Given the description of an element on the screen output the (x, y) to click on. 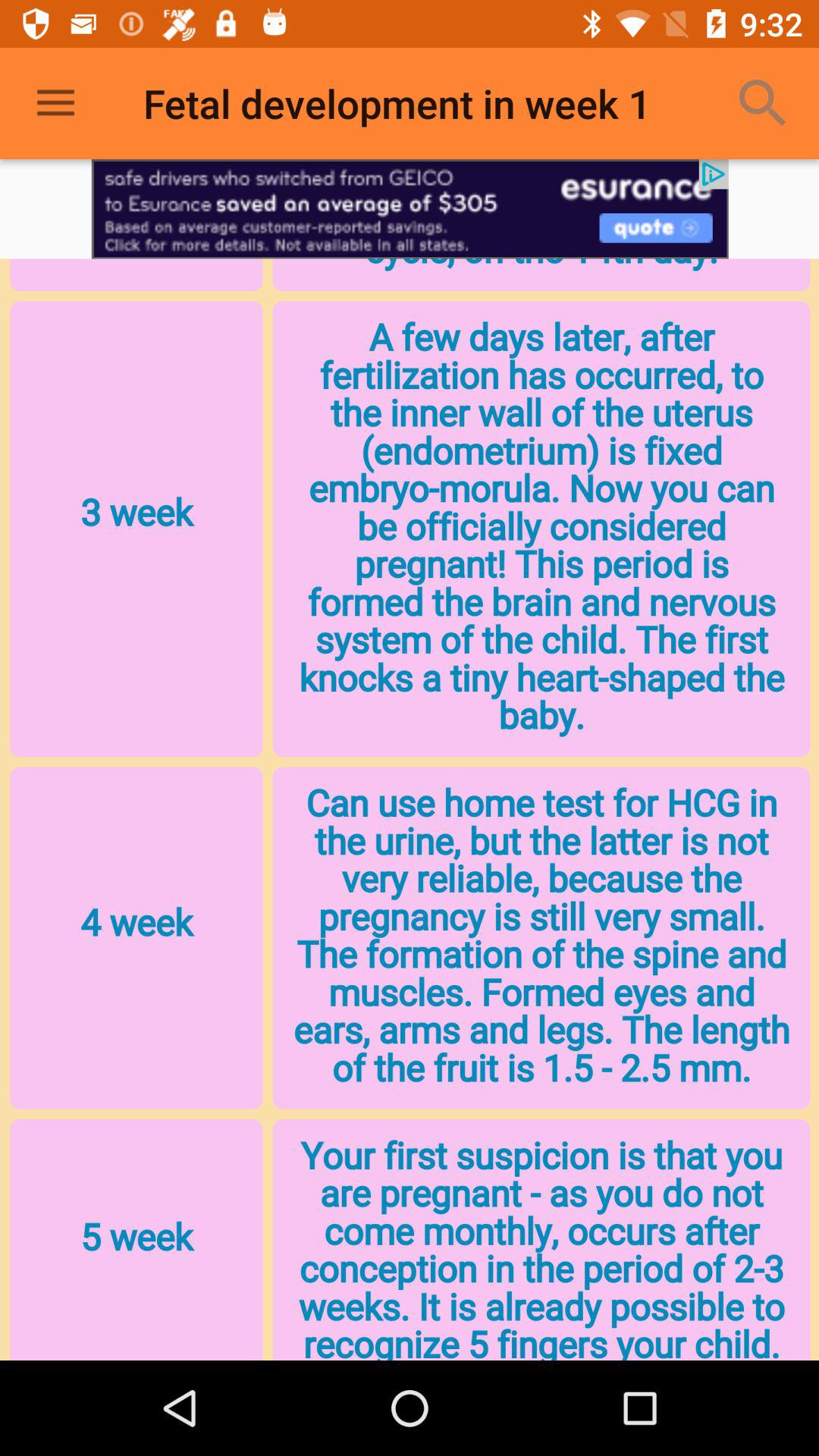
advertising (409, 208)
